Given the description of an element on the screen output the (x, y) to click on. 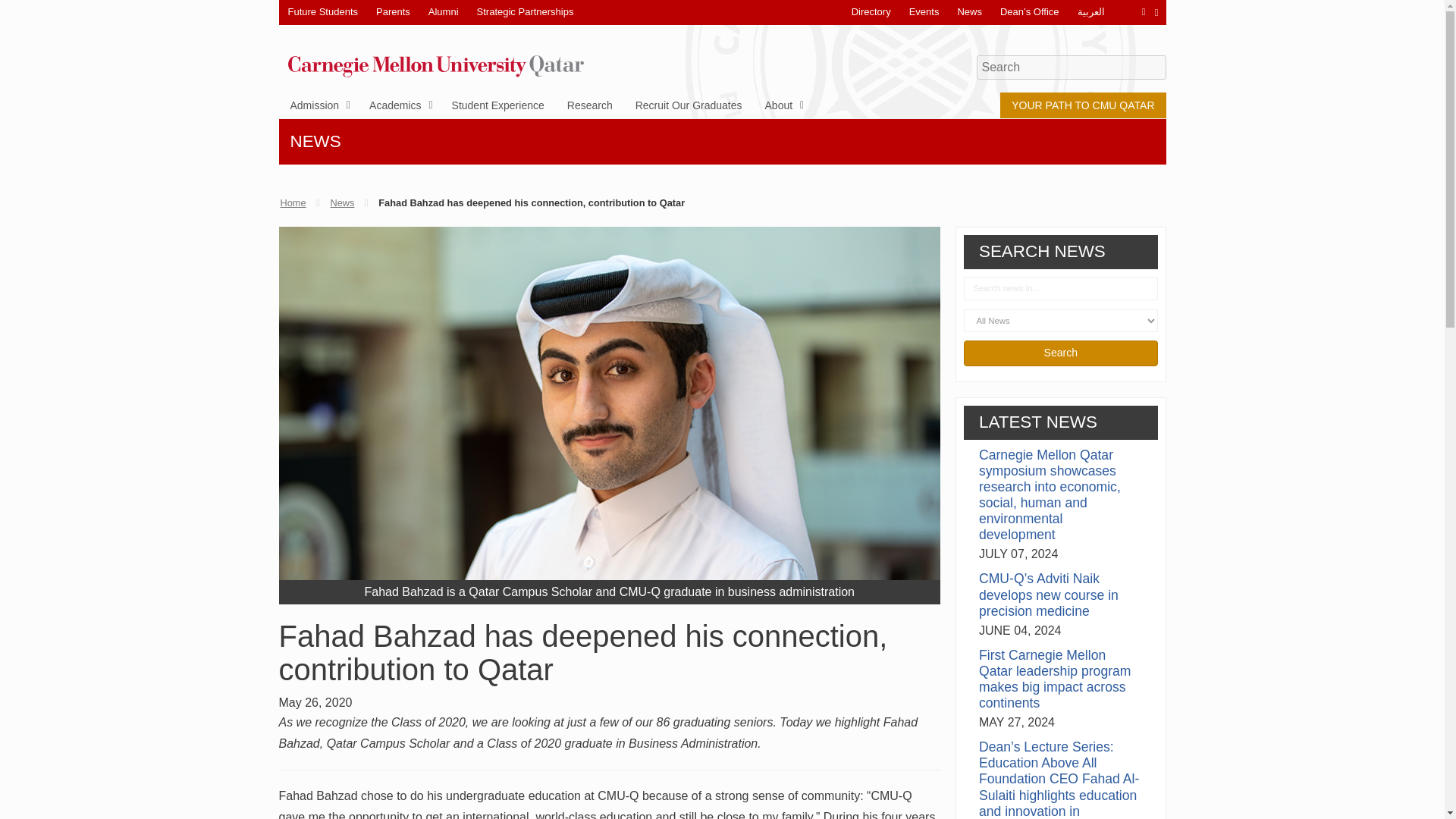
Strategic Partnerships (525, 12)
Future Students (323, 12)
News (969, 12)
Parents (392, 12)
Directory (871, 12)
Alumni (443, 12)
Events (924, 12)
